Given the description of an element on the screen output the (x, y) to click on. 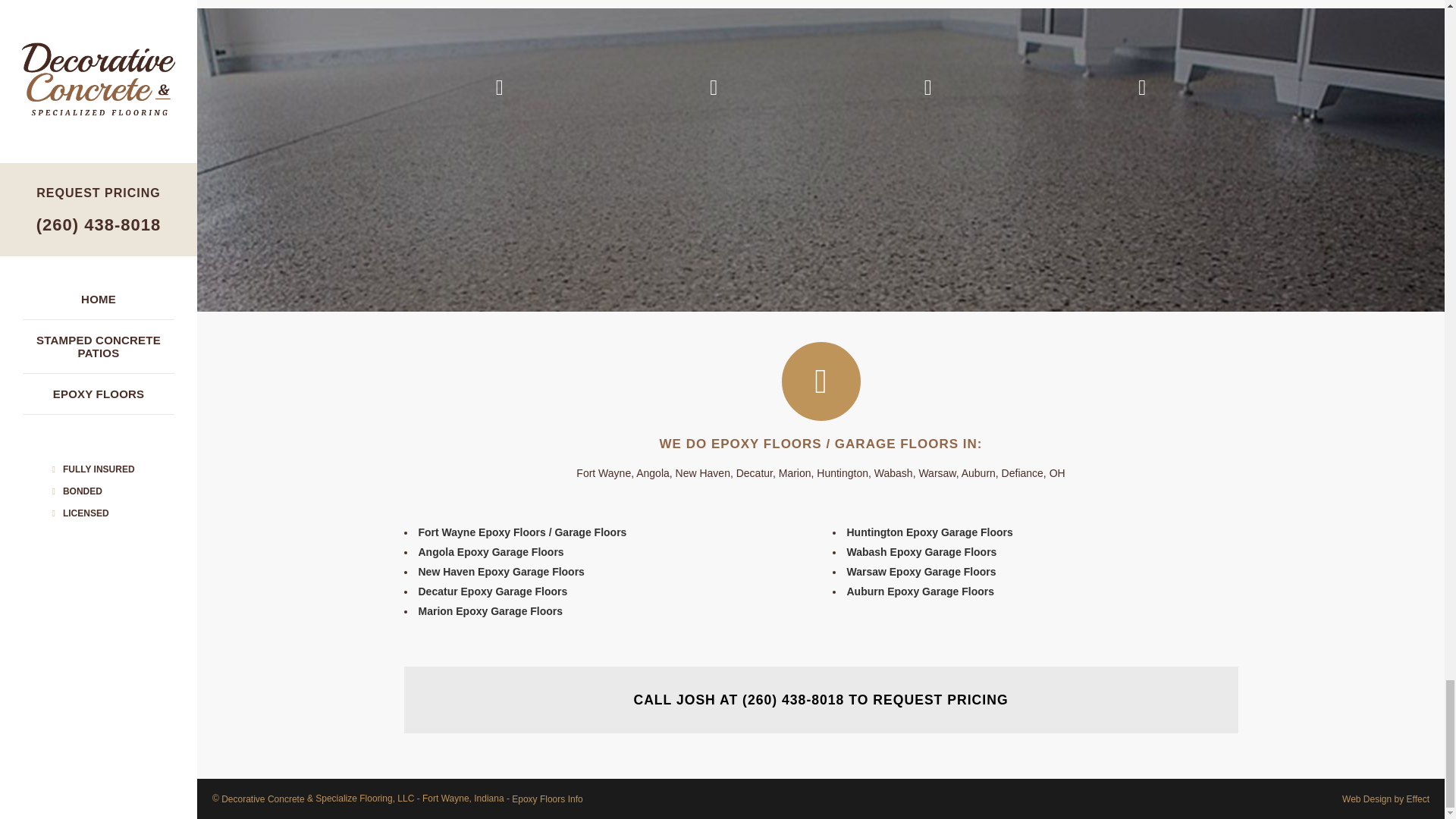
New Haven Epoxy Garage Floors (502, 571)
Warsaw Epoxy Garage Floors (920, 571)
Auburn Epoxy Garage Floors (918, 591)
Angola Epoxy Garage Floors (491, 551)
Epoxy Floors Info (547, 799)
Decatur Epoxy Garage Floors (493, 591)
Decorative Concrete (262, 799)
Huntington Epoxy Garage Floors (928, 532)
Marion Epoxy Garage Floors (491, 611)
Web Design by Effect (1385, 799)
